Given the description of an element on the screen output the (x, y) to click on. 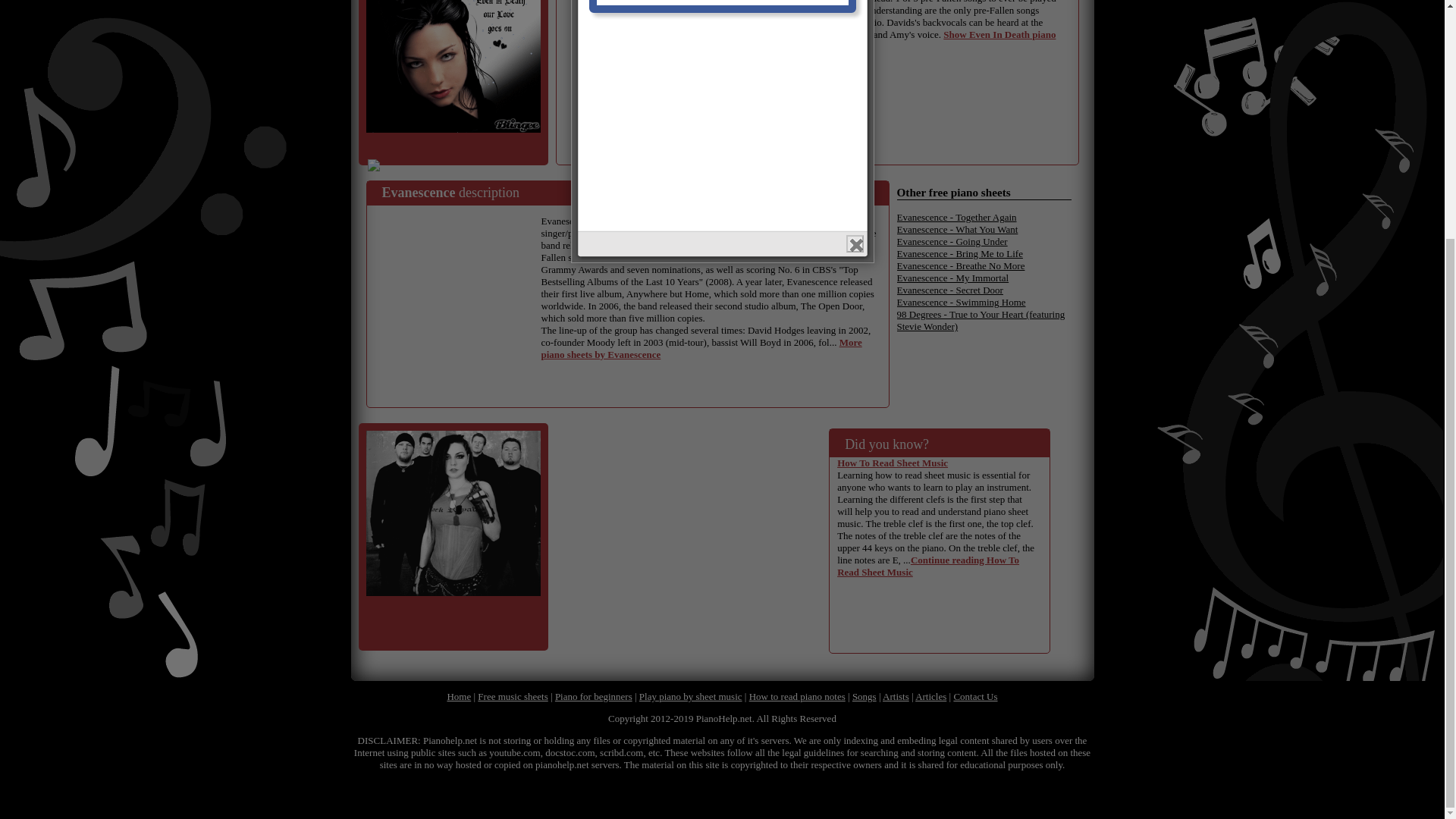
Evanescence (418, 192)
Advertisement (663, 79)
Advertisement (457, 288)
Evanescence - Even In Death piano sheet music (452, 66)
Evanescence - What You Want (956, 229)
Evanescence - Going Under (951, 241)
Bring Me to Life free piano sheet (959, 253)
Home (458, 696)
Piano for beginners (592, 696)
Play piano by sheet music (690, 696)
Evanescence - Swimming Home (960, 301)
What You Want free piano sheet (956, 229)
Articles (930, 696)
Evanescence - Together Again (956, 216)
Artists (895, 696)
